Given the description of an element on the screen output the (x, y) to click on. 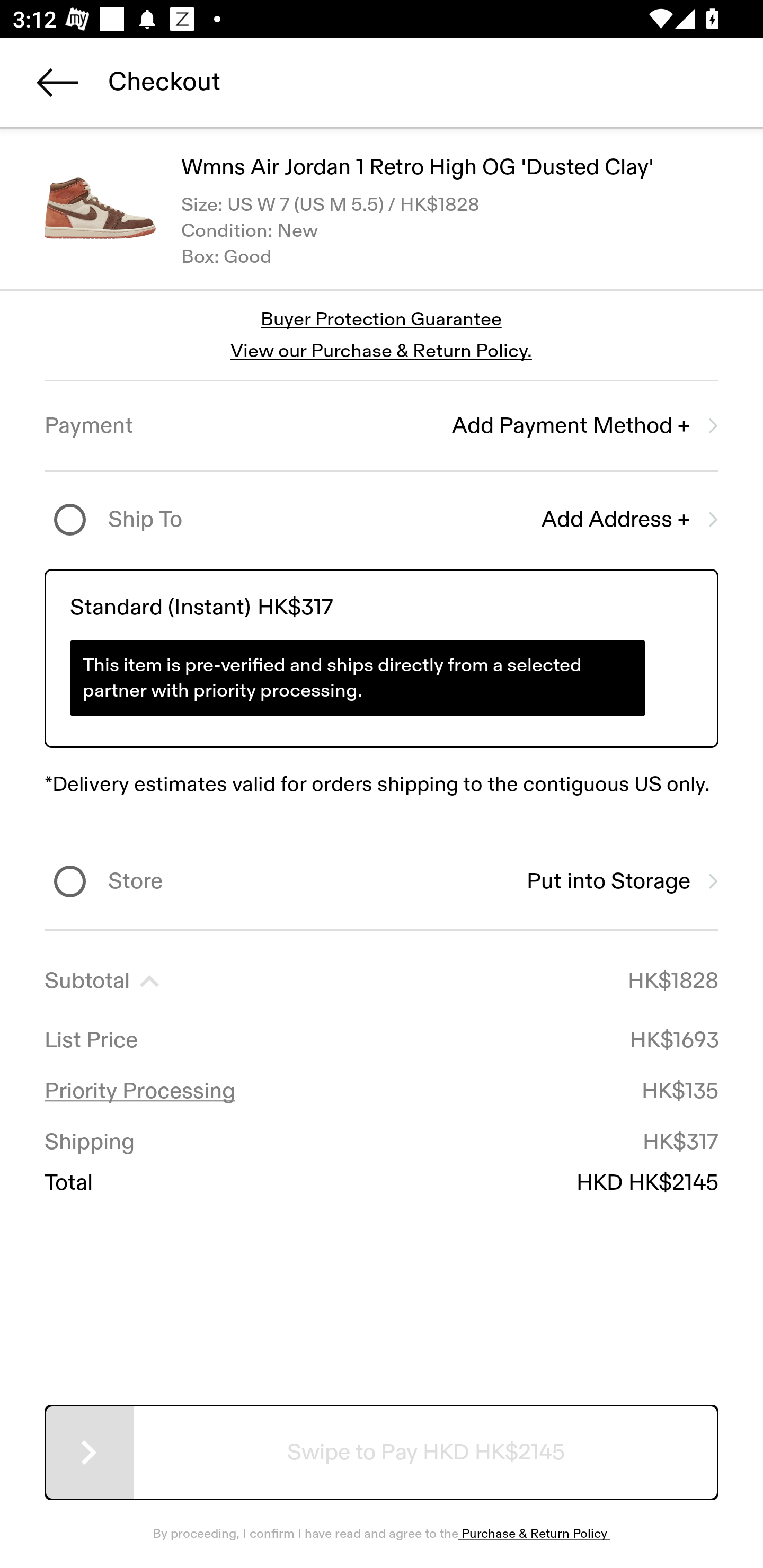
Navigate up (56, 82)
Buyer Protection Guarantee (381, 319)
View our Purchase & Return Policy. (380, 350)
Payment Add Payment Method + (381, 425)
Subtotal HK$1828 (381, 981)
Priority Processing HK$135 (381, 1091)
